Given the description of an element on the screen output the (x, y) to click on. 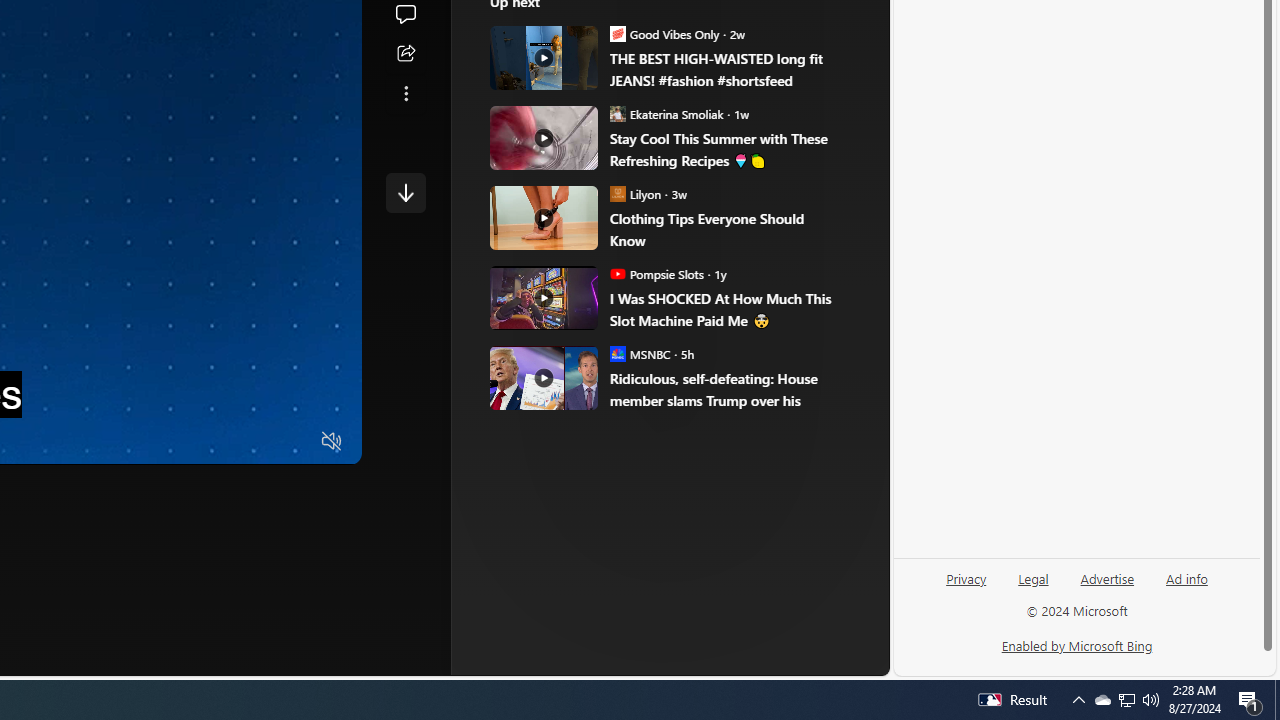
Nordace (613, 337)
Class: at-item detail-page (406, 93)
Advertise (1106, 586)
Ekaterina Smoliak Ekaterina Smoliak (667, 113)
Legal (1033, 586)
See more (406, 93)
Lilyon (617, 193)
Privacy (966, 586)
Clothing Tips Everyone Should Know (726, 229)
Quality Settings (214, 442)
Privacy (965, 577)
MSNBC MSNBC (640, 354)
